Given the description of an element on the screen output the (x, y) to click on. 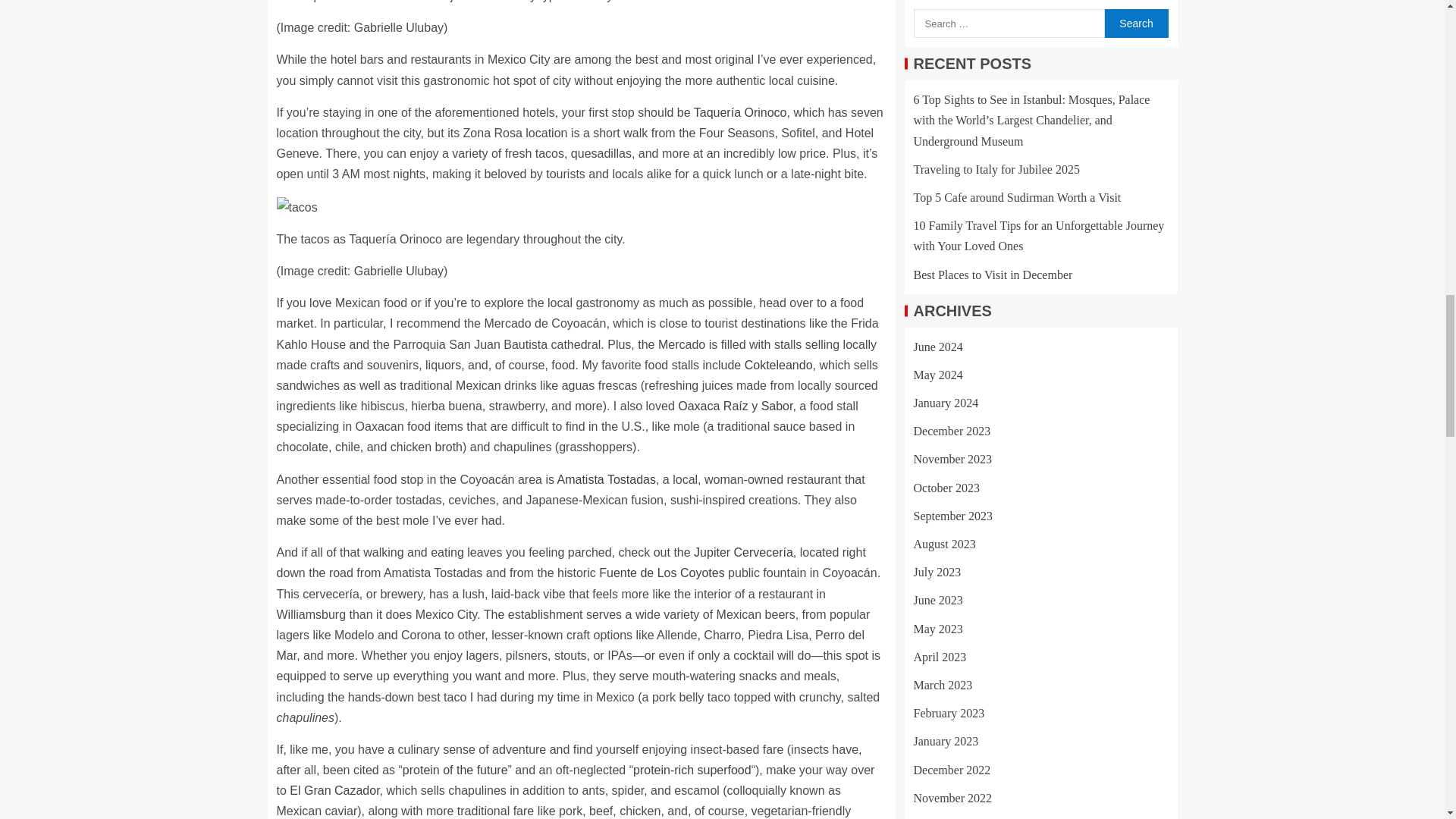
Cokteleando (778, 364)
protein-rich superfood (692, 769)
protein of the future (455, 769)
Fuente de Los Coyotes (660, 572)
El Gran Cazador (333, 789)
Amatista Tostadas (606, 479)
